Given the description of an element on the screen output the (x, y) to click on. 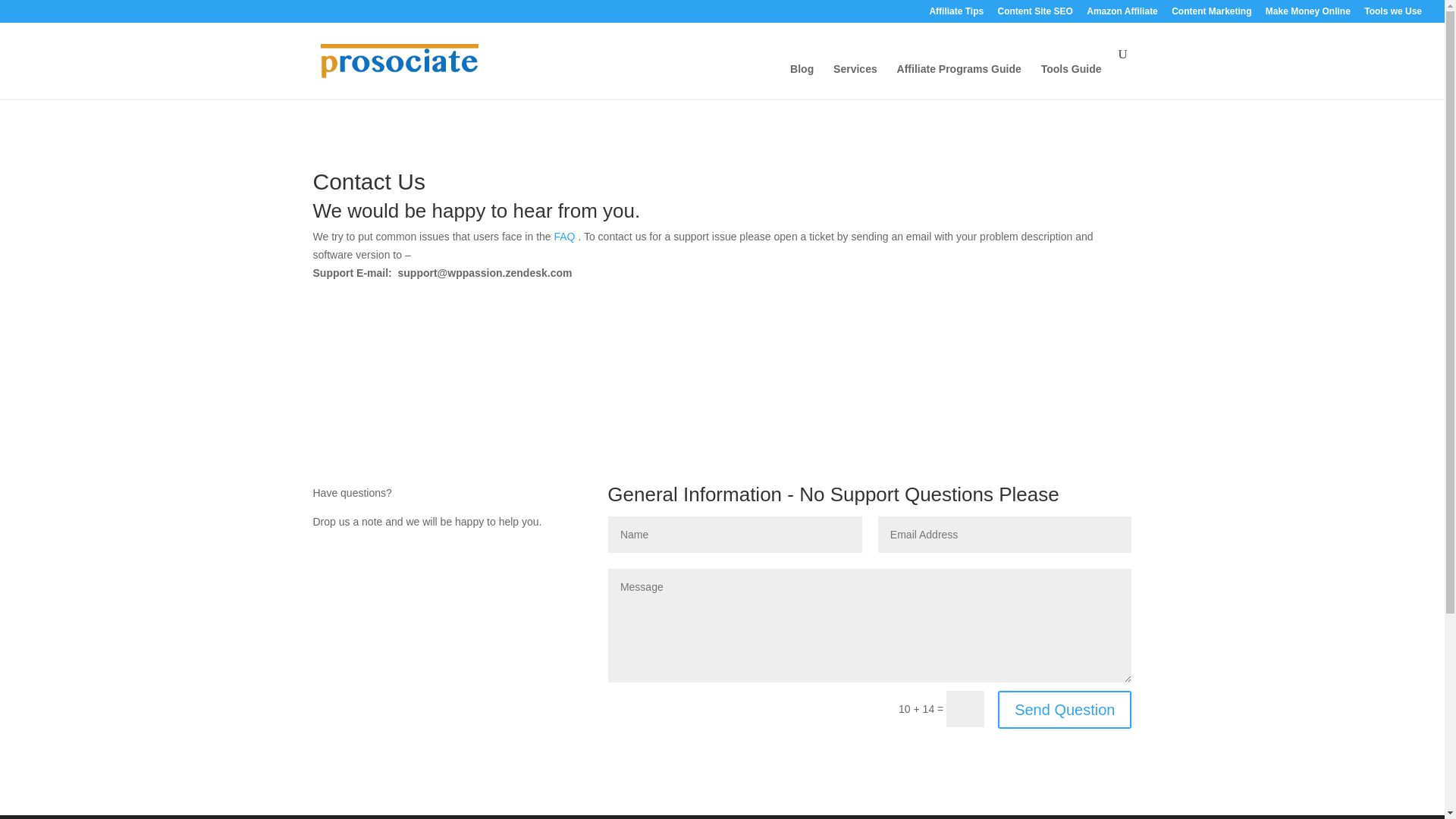
FAQ (565, 236)
Send Question (1064, 709)
Amazon Affiliate (1121, 14)
Services (854, 81)
Tools we Use (1393, 14)
Tools Guide (1071, 81)
Make Money Online (1308, 14)
Content Site SEO (1035, 14)
Affiliate Tips (956, 14)
Affiliate Programs Guide (959, 81)
